Given the description of an element on the screen output the (x, y) to click on. 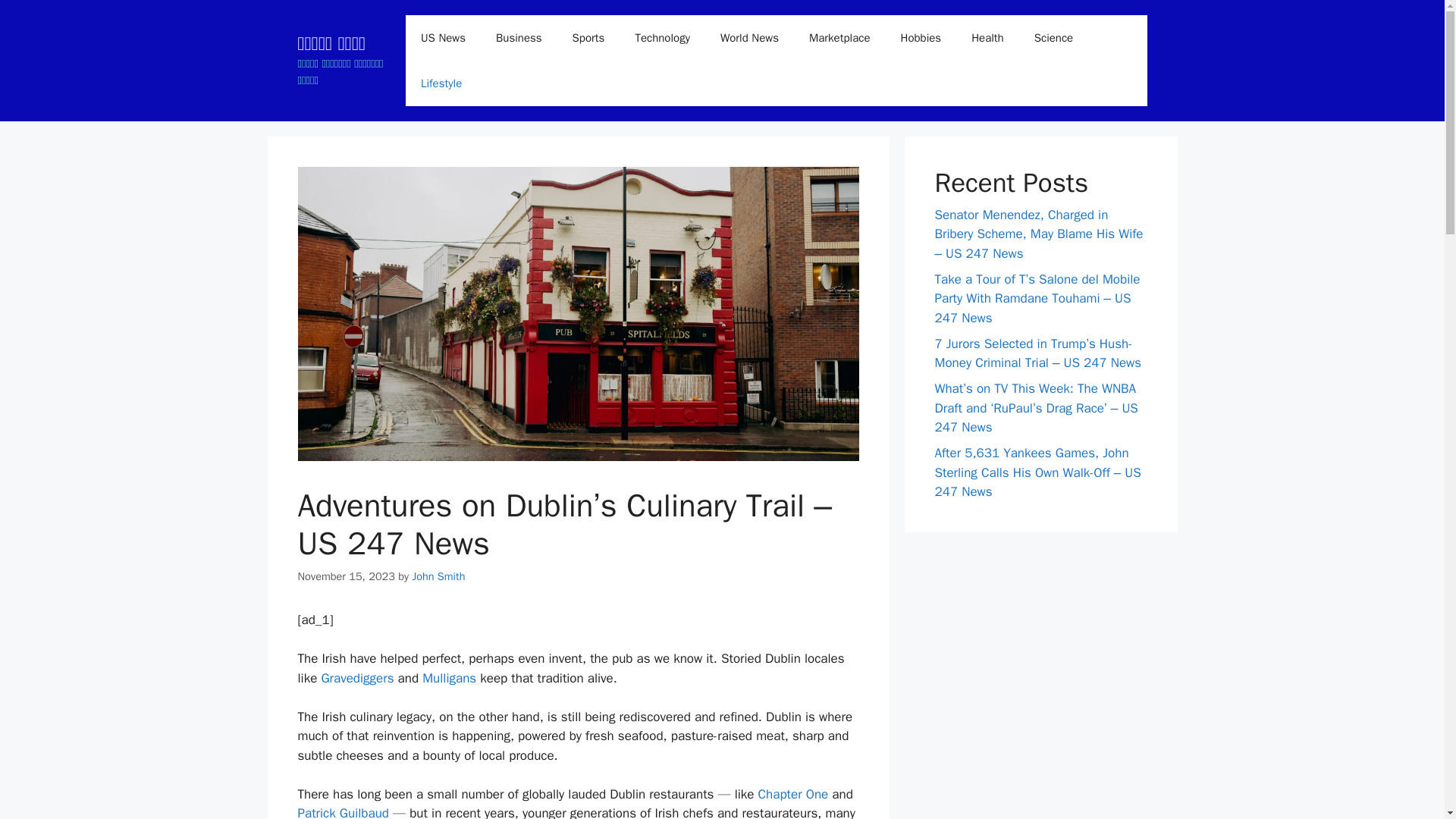
World News (748, 37)
Lifestyle (441, 83)
Business (518, 37)
Marketplace (839, 37)
Chapter One (793, 794)
Mulligans (449, 678)
Patrick Guilbaud (342, 812)
Health (987, 37)
Gravediggers (356, 678)
John Smith (438, 576)
View all posts by John Smith (438, 576)
US News (443, 37)
Hobbies (920, 37)
Technology (662, 37)
Science (1054, 37)
